Given the description of an element on the screen output the (x, y) to click on. 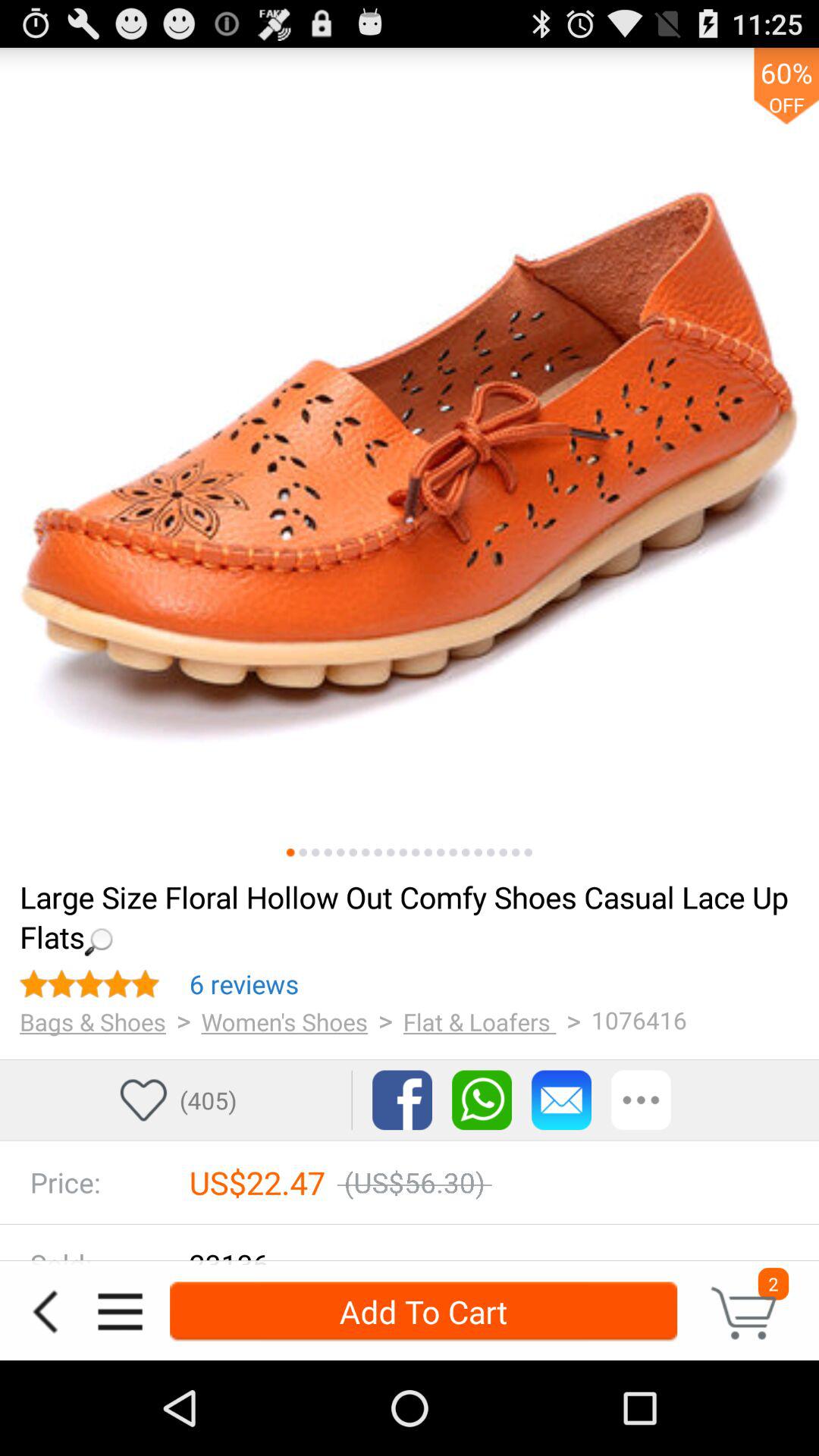
go to this image (415, 852)
